Given the description of an element on the screen output the (x, y) to click on. 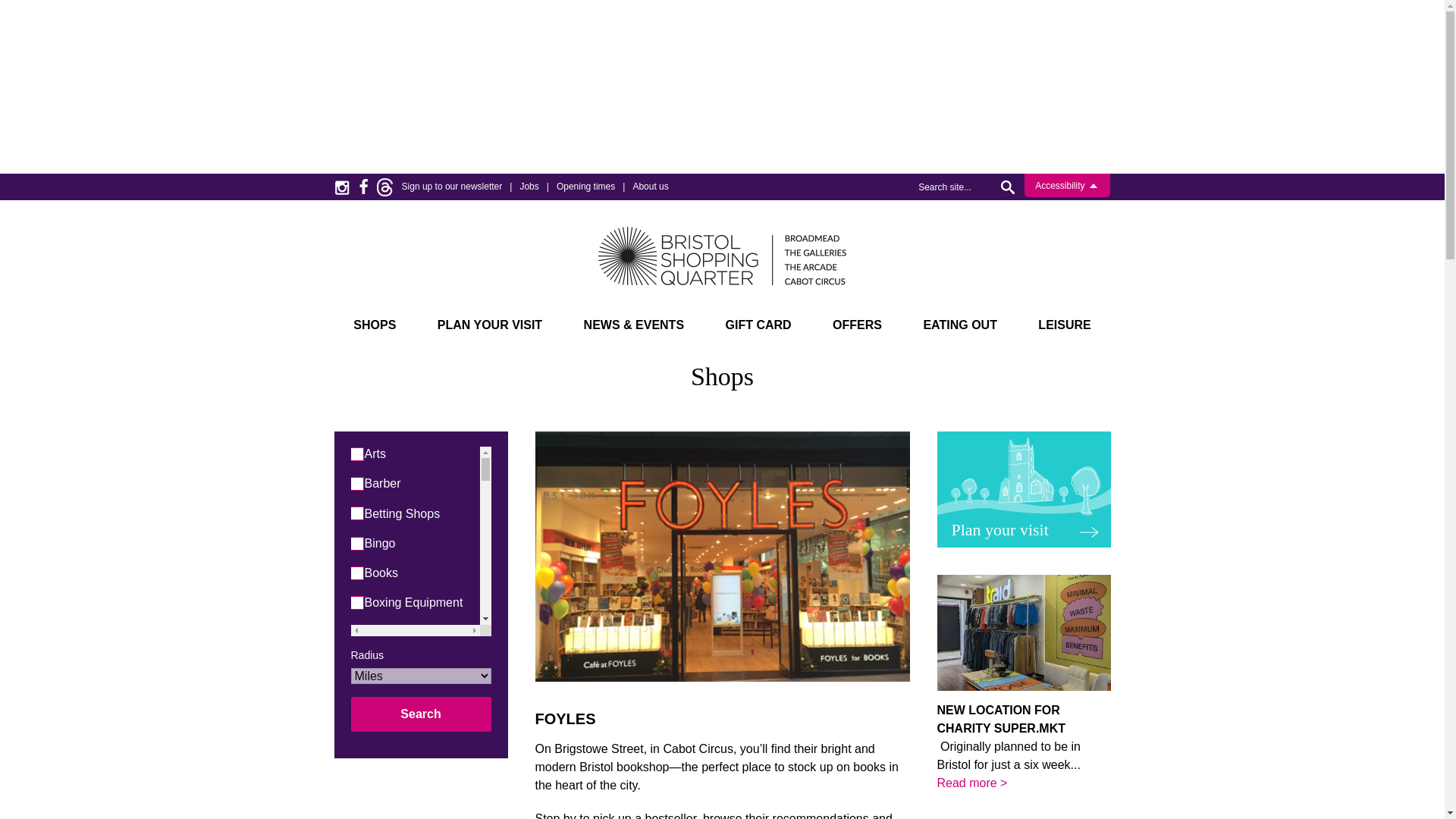
Search (1011, 186)
73 (354, 632)
112 (354, 453)
Jobs (528, 185)
About us (649, 185)
Search (1011, 186)
LEISURE (1063, 325)
Sign up to our newsletter (451, 185)
Search (420, 714)
74 (354, 483)
EATING OUT (959, 325)
127 (354, 721)
107 (354, 810)
63 (354, 691)
101 (354, 780)
